Given the description of an element on the screen output the (x, y) to click on. 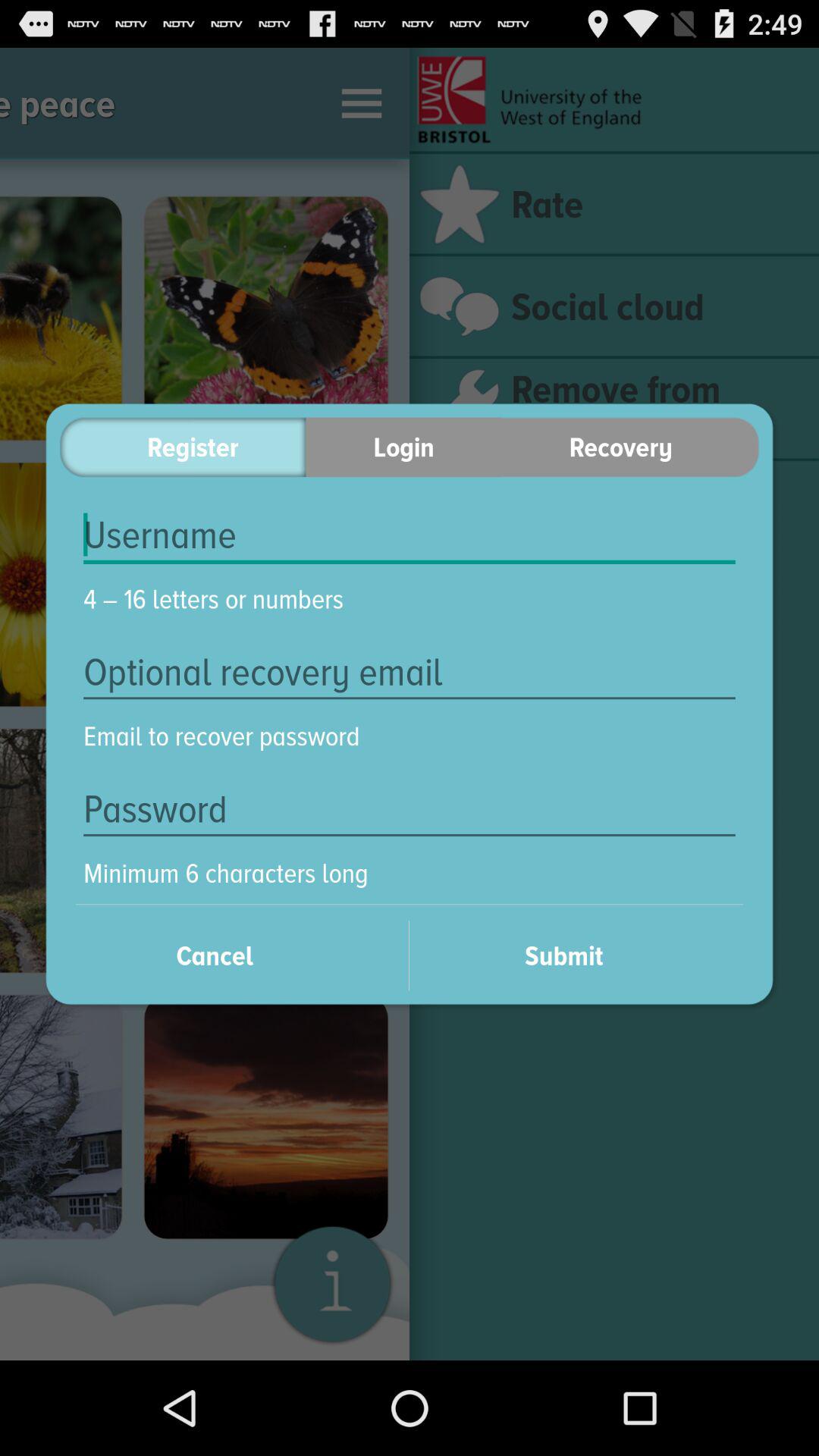
click item to the left of recovery (403, 447)
